Given the description of an element on the screen output the (x, y) to click on. 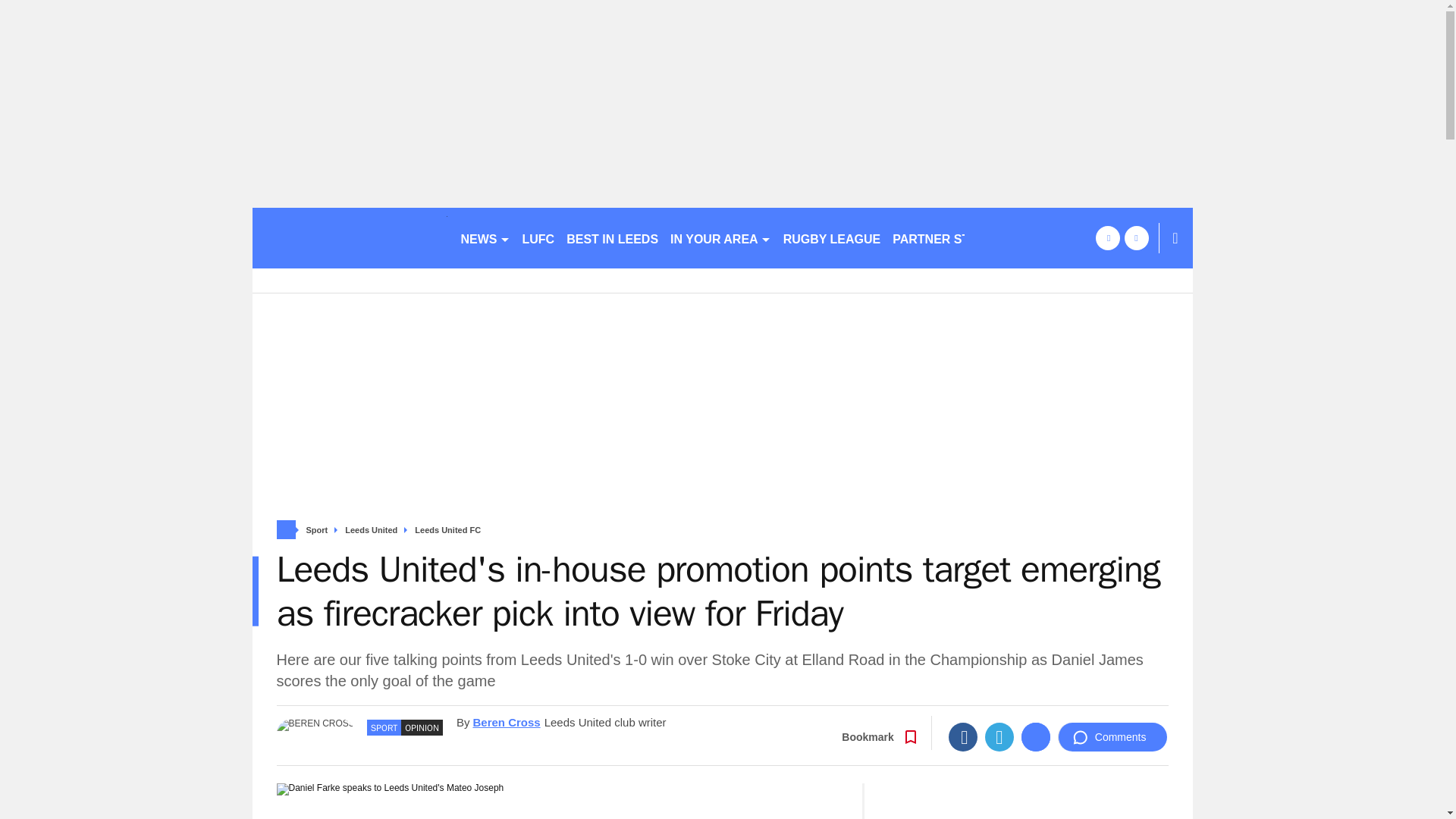
twitter (1136, 238)
Twitter (999, 736)
Comments (1112, 736)
IN YOUR AREA (720, 238)
leedslive (348, 238)
NEWS (485, 238)
RUGBY LEAGUE (831, 238)
facebook (1106, 238)
Facebook (962, 736)
BEST IN LEEDS (611, 238)
